Given the description of an element on the screen output the (x, y) to click on. 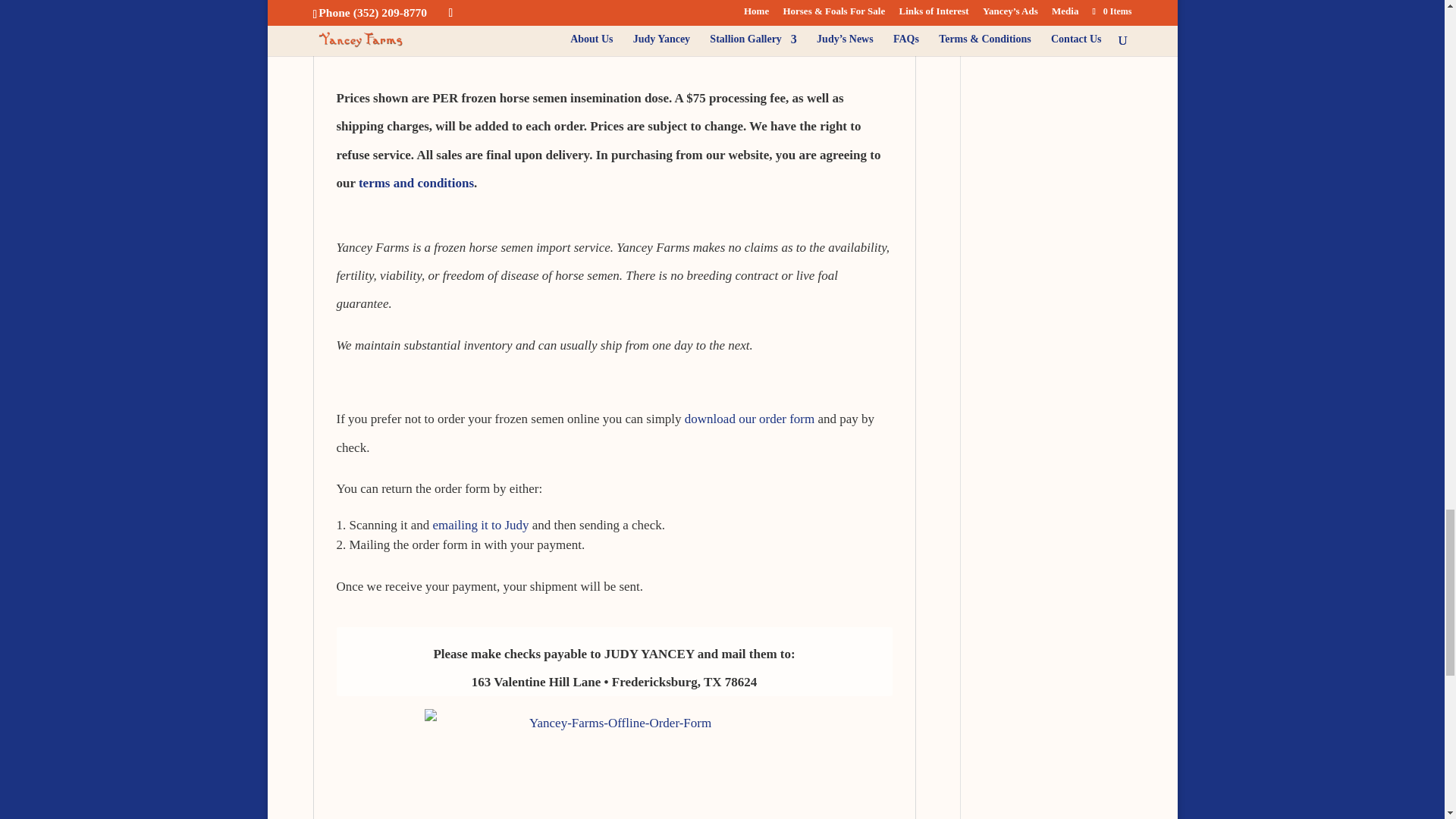
emailing it to Judy (480, 524)
Offline Order Form (748, 418)
terms and conditions (416, 183)
Purchasing Terms and Conditions (416, 183)
download our order form (748, 418)
